Given the description of an element on the screen output the (x, y) to click on. 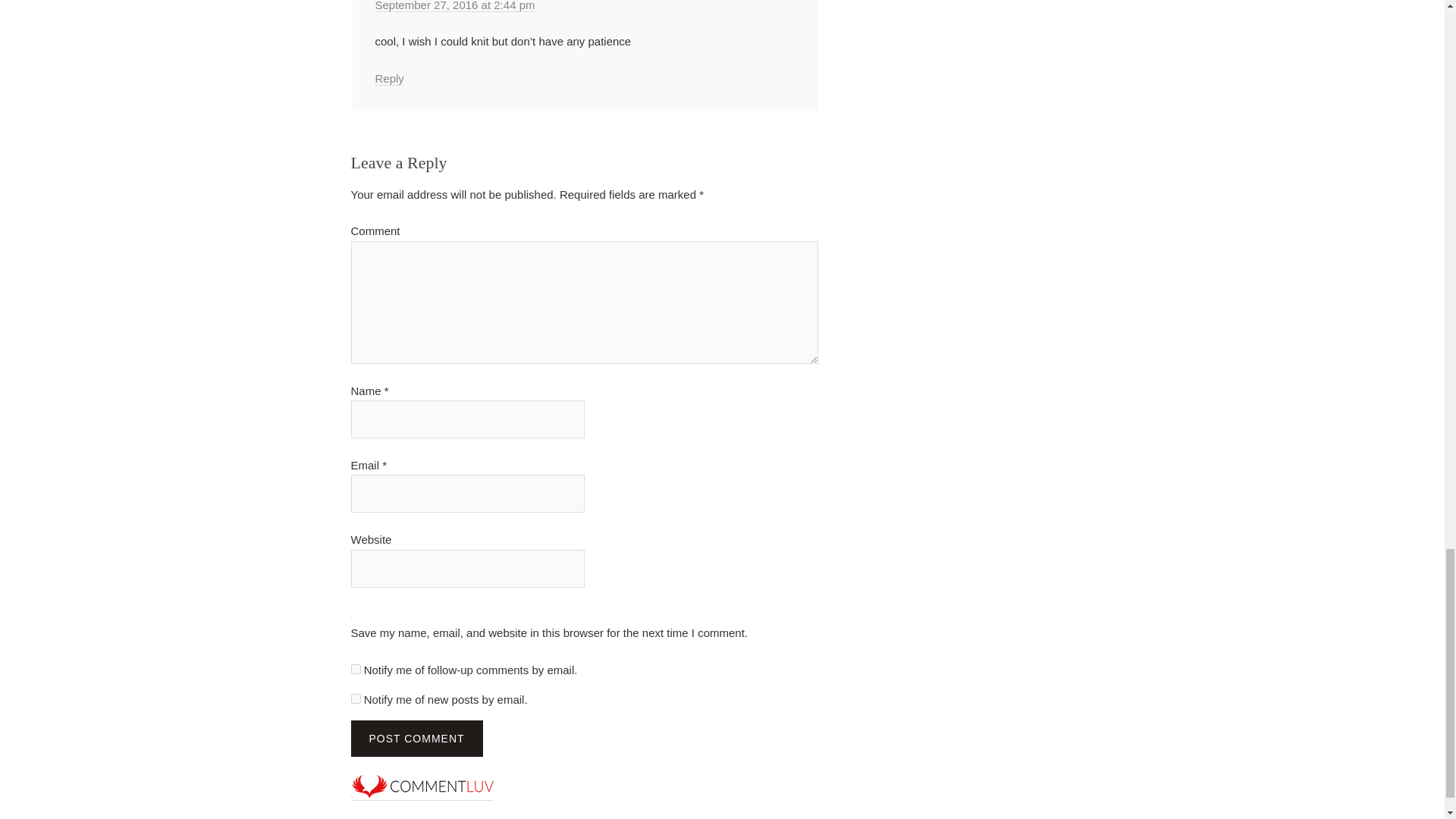
Tuesday, September 27, 2016, 2:44 pm (454, 6)
subscribe (354, 698)
Post Comment (415, 738)
September 27, 2016 at 2:44 pm (454, 6)
subscribe (354, 669)
Reply (388, 78)
CommentLuv is enabled (422, 793)
Post Comment (415, 738)
